Given the description of an element on the screen output the (x, y) to click on. 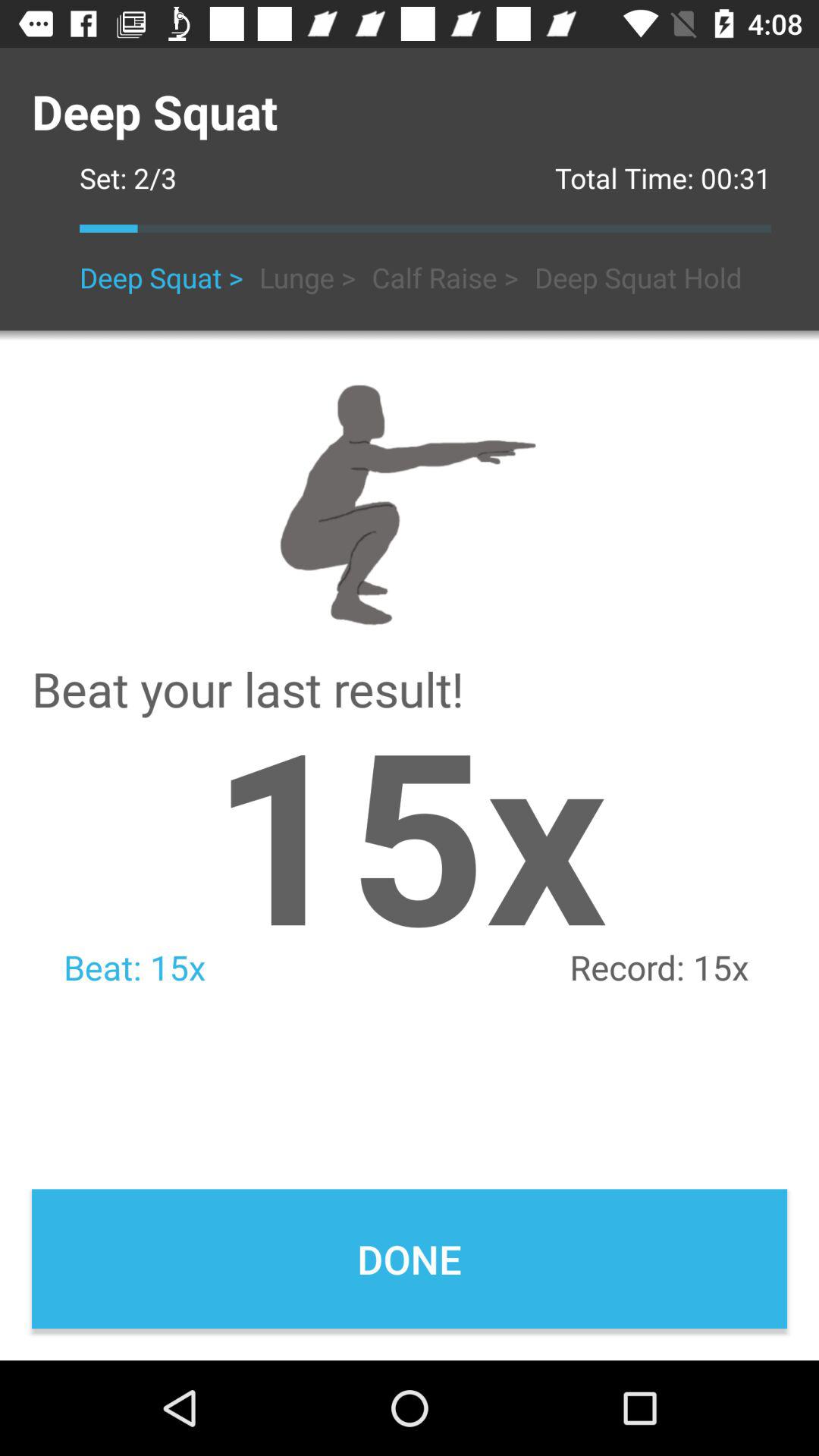
open the done (409, 1258)
